Given the description of an element on the screen output the (x, y) to click on. 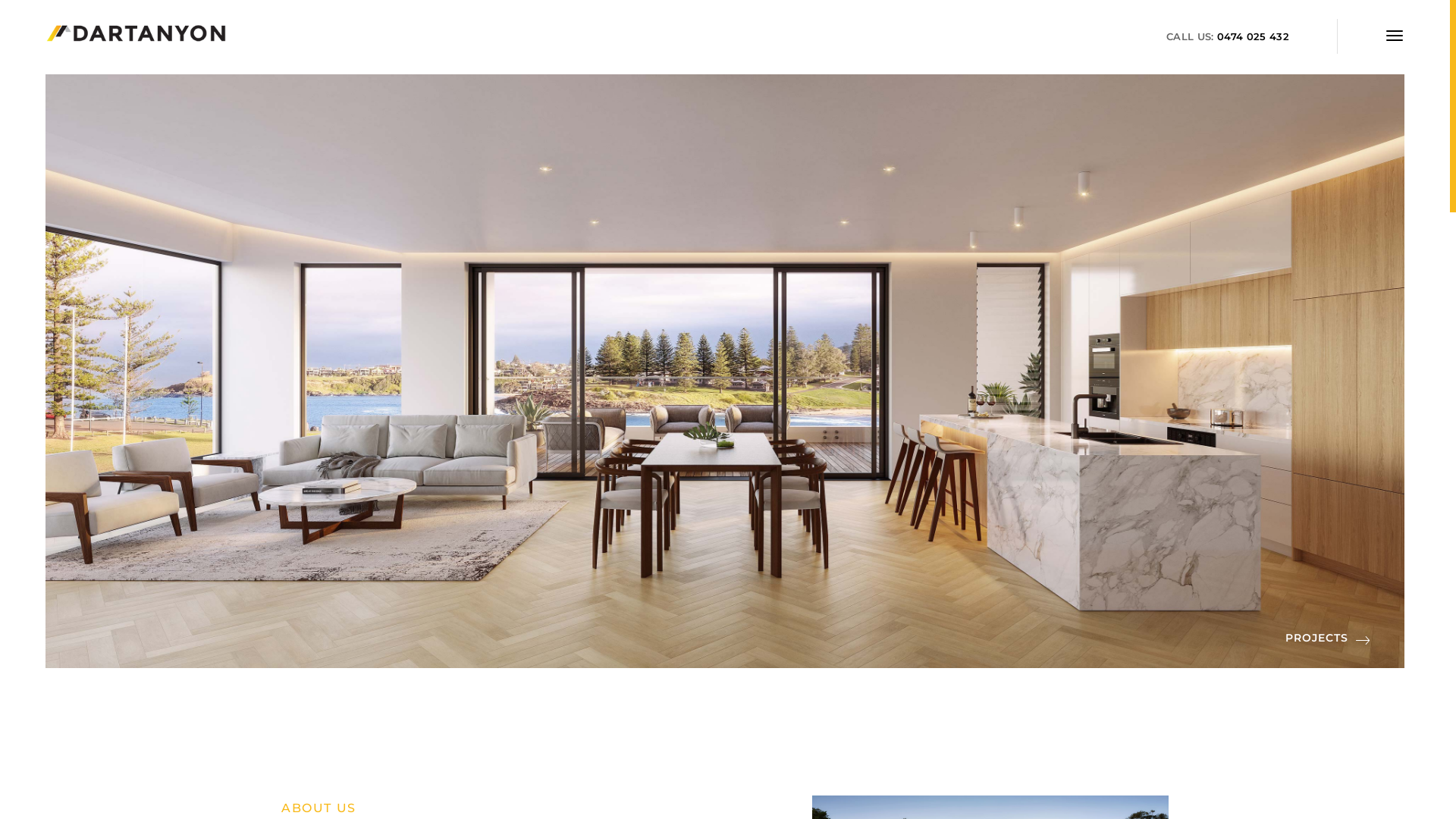
PROJECTS Element type: text (1327, 638)
